Given the description of an element on the screen output the (x, y) to click on. 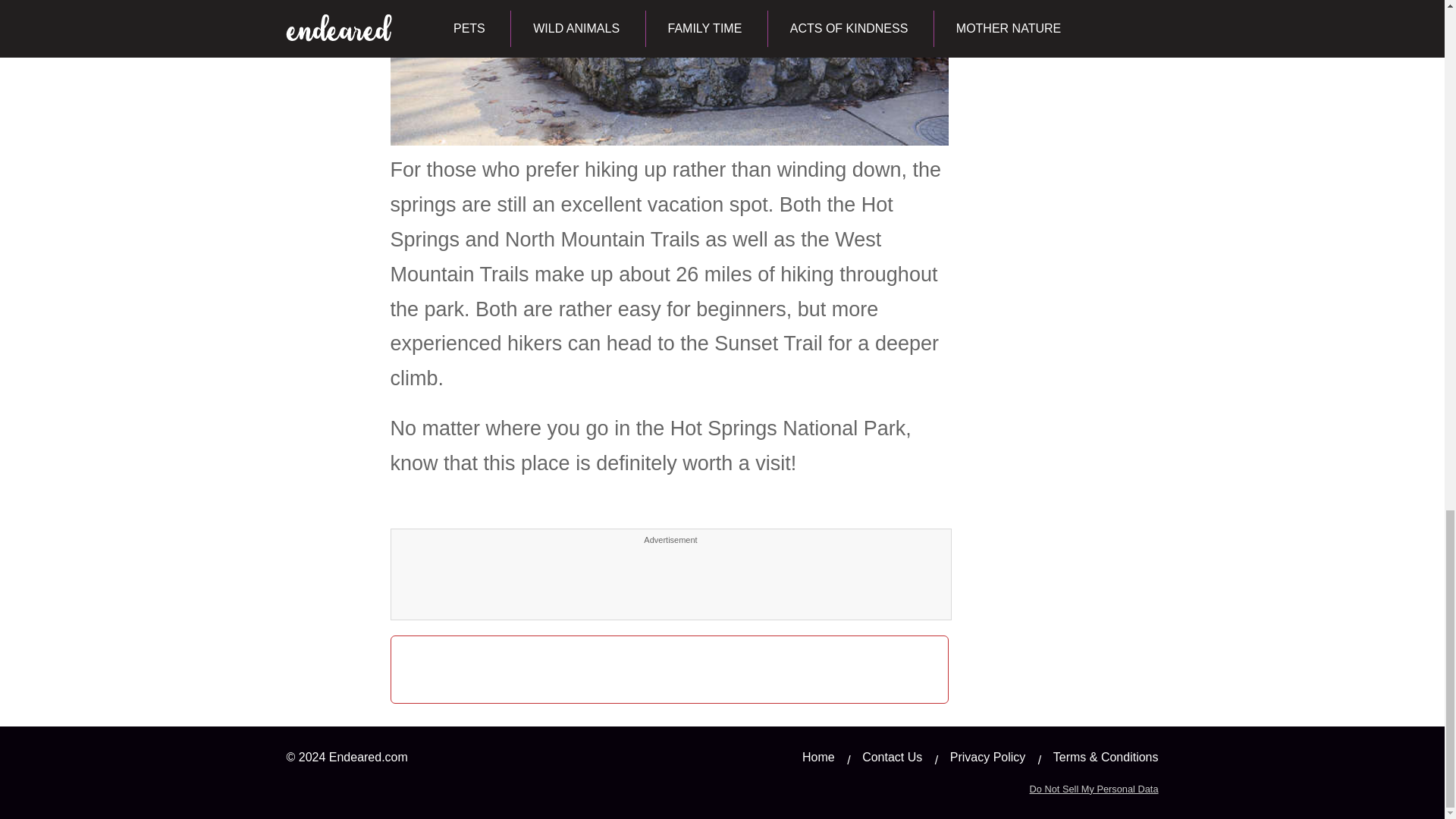
Do Not Sell My Personal Data (1093, 788)
Privacy Policy (988, 757)
Contact Us (891, 757)
Home (818, 757)
